Given the description of an element on the screen output the (x, y) to click on. 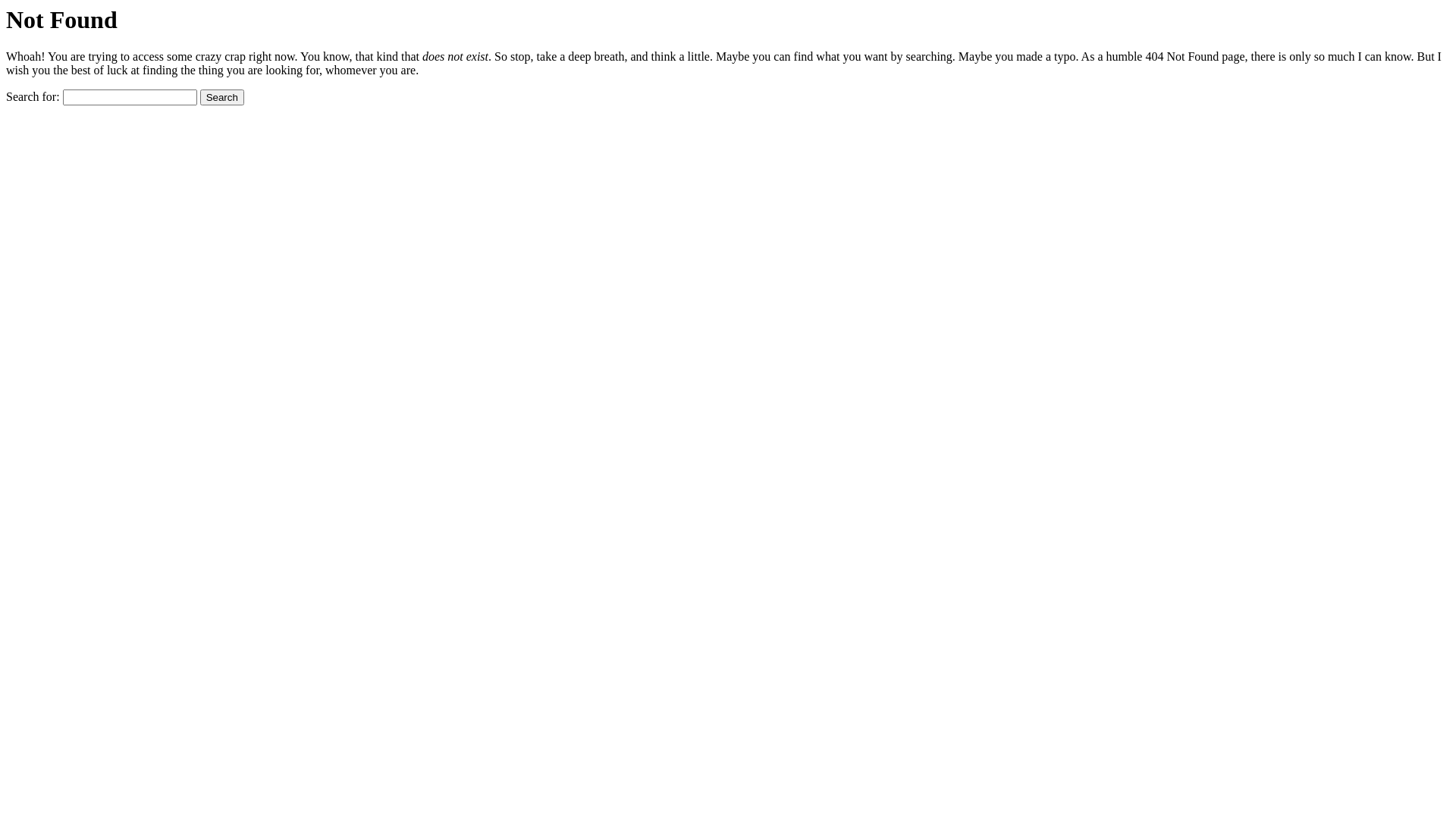
Search Element type: text (222, 97)
